Given the description of an element on the screen output the (x, y) to click on. 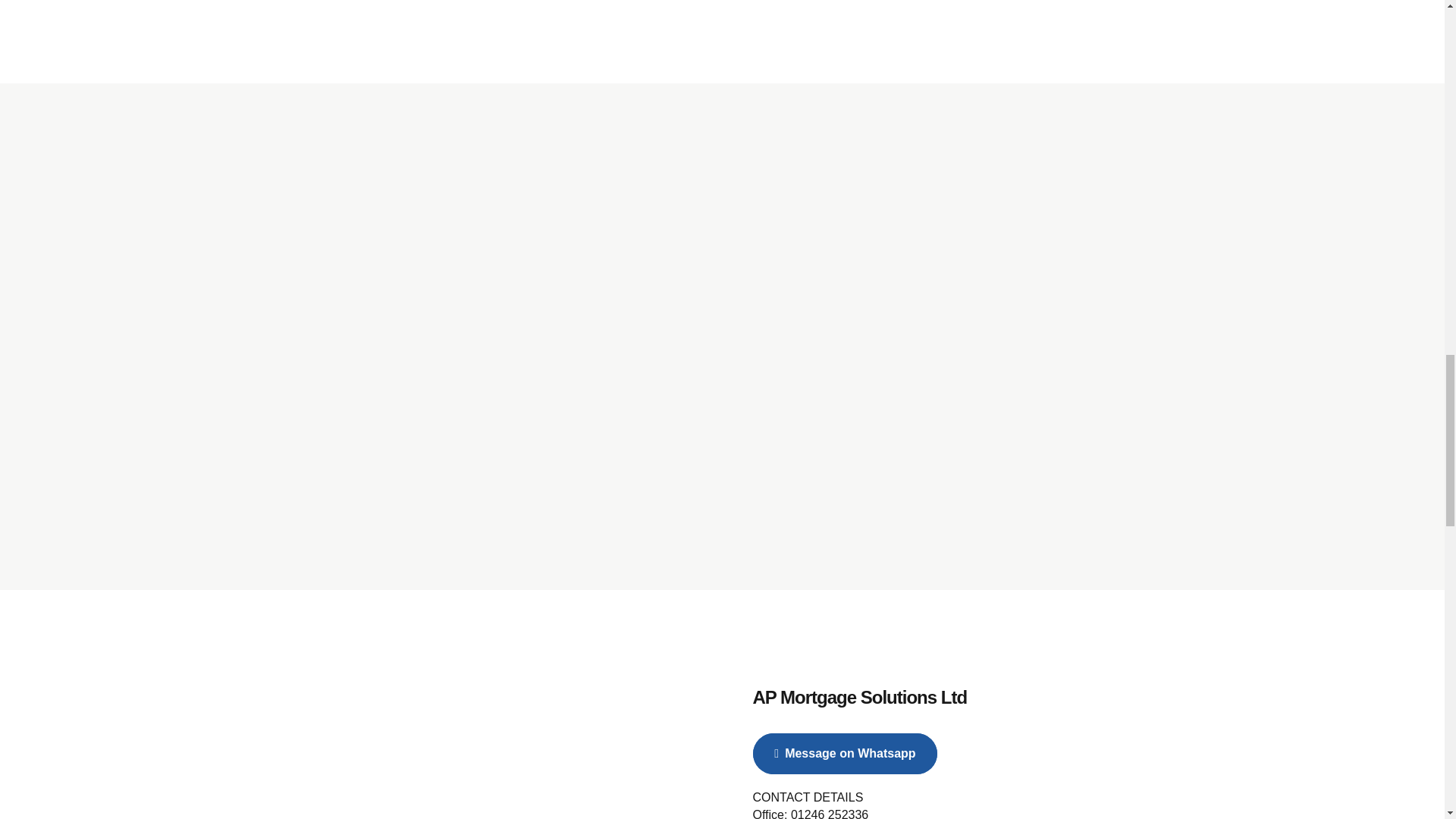
01246 252336 (828, 813)
Message on Whatsapp (844, 753)
Message on Whatsapp (844, 753)
